Given the description of an element on the screen output the (x, y) to click on. 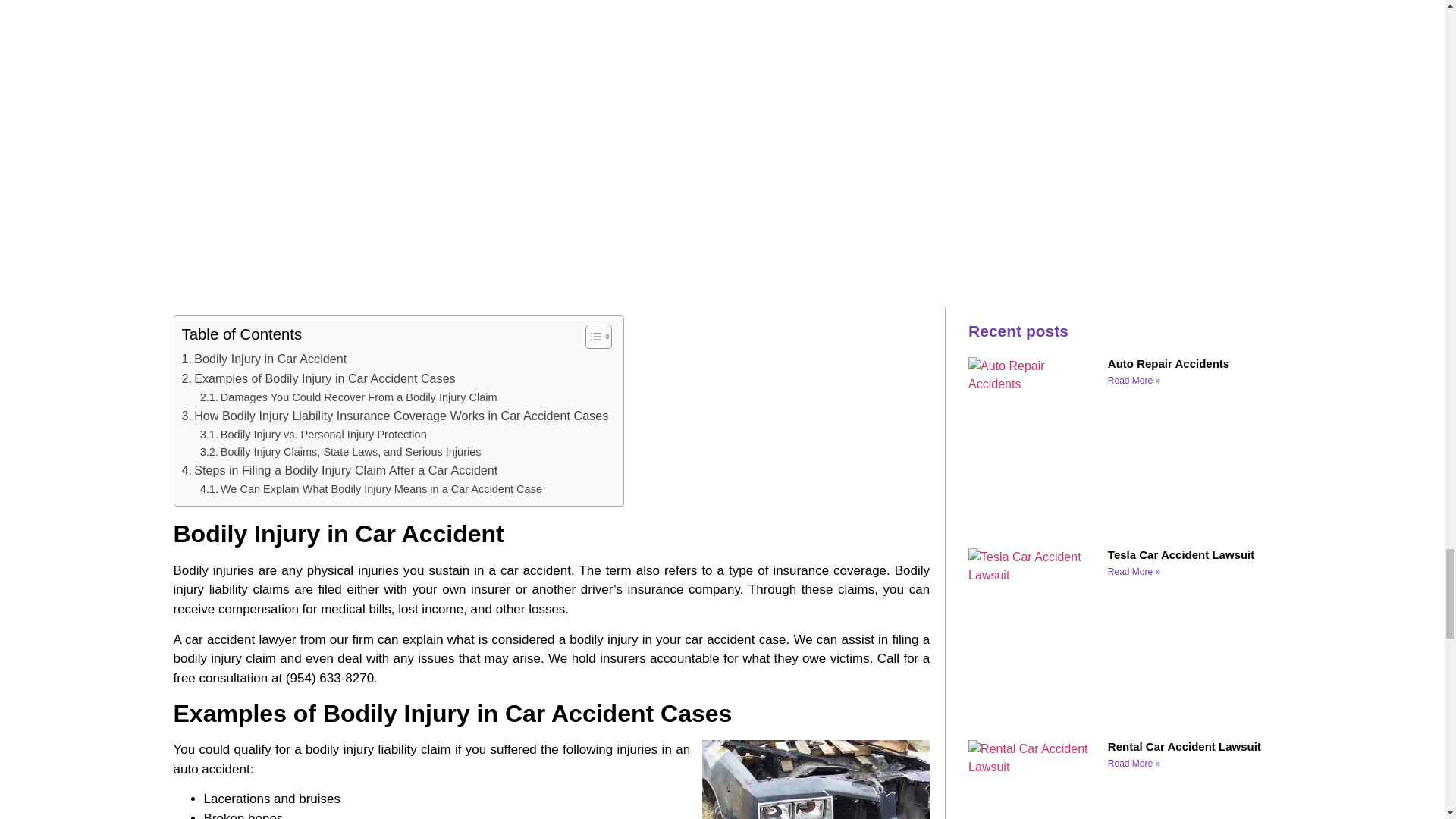
Bodily Injury vs. Personal Injury Protection (313, 434)
Steps in Filing a Bodily Injury Claim After a Car Accident (339, 470)
Examples of Bodily Injury in Car Accident Cases (318, 379)
Bodily Injury Claims, State Laws, and Serious Injuries (340, 452)
Damages You Could Recover From a Bodily Injury Claim (348, 397)
Bodily Injury in Car Accident (264, 359)
